Given the description of an element on the screen output the (x, y) to click on. 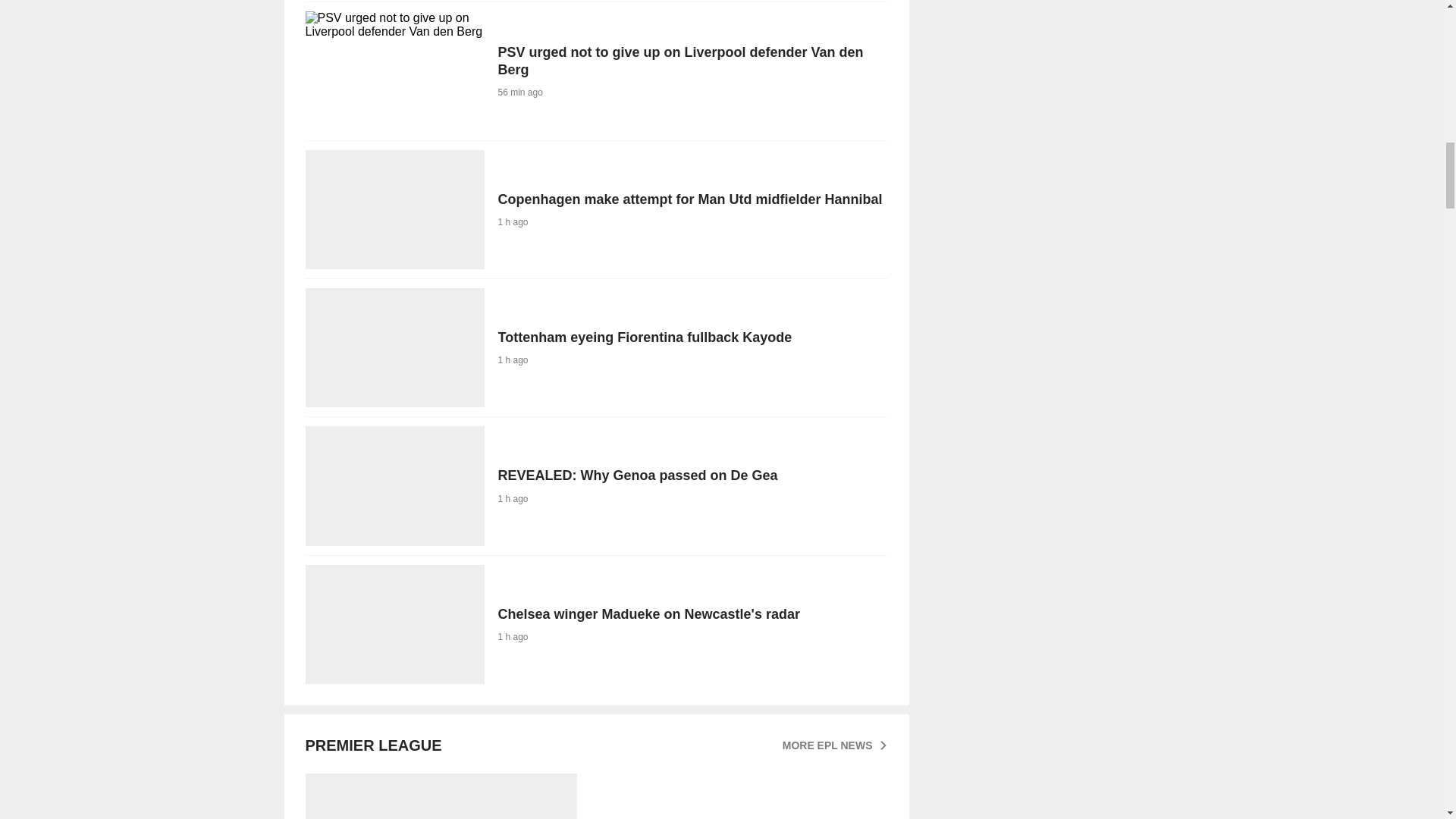
MORE EPL NEWS (595, 347)
